Given the description of an element on the screen output the (x, y) to click on. 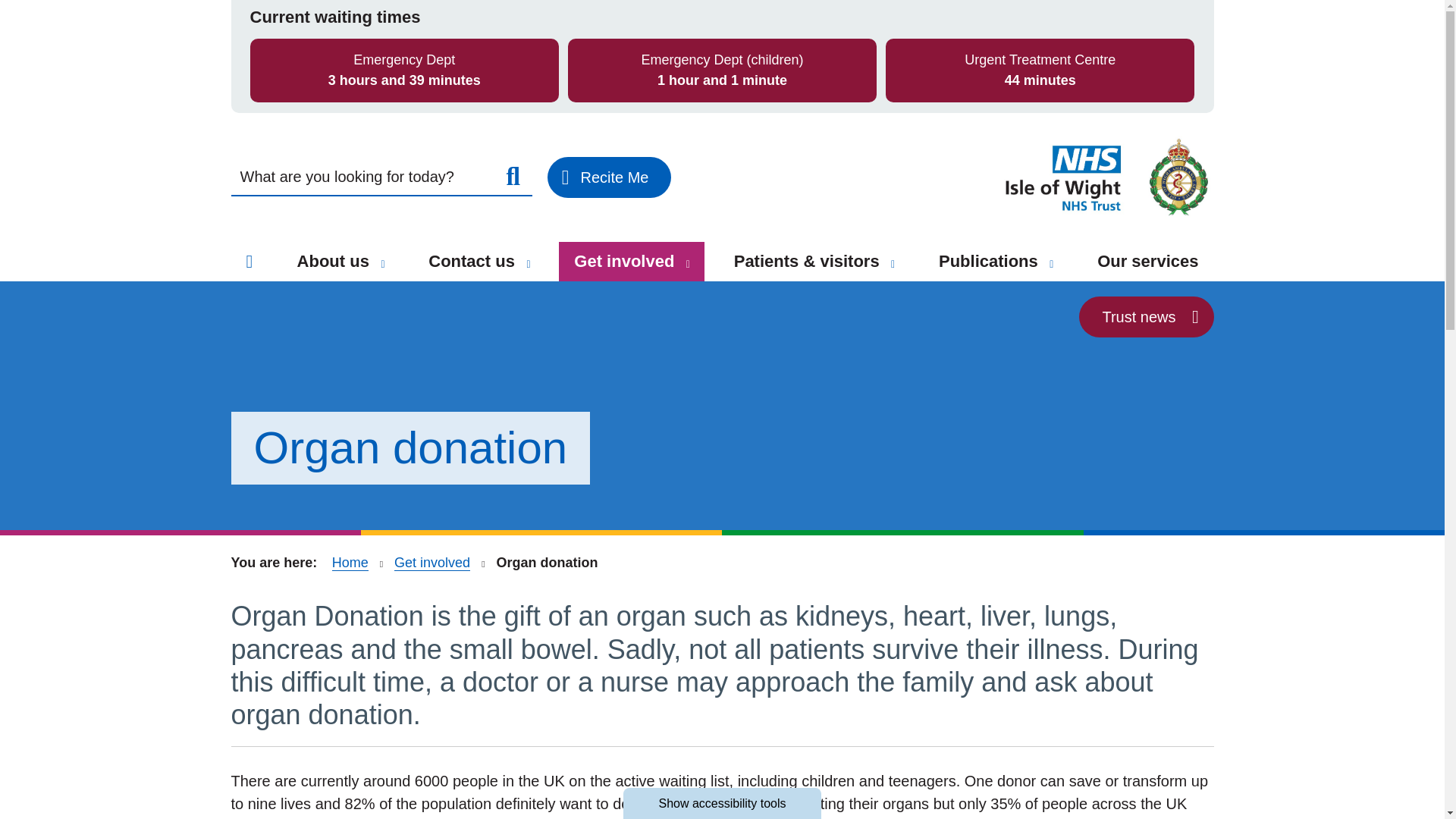
Search (513, 177)
Equality and diversity (331, 88)
Expenditure 2020 (570, 119)
Expenditure 2024 (570, 13)
Trust news (1145, 316)
Home (248, 261)
About us (382, 264)
Expenditure 2022 (570, 67)
Recite Me (609, 177)
Expenditure 2023 (570, 40)
Expenditure 2021 (570, 93)
Emergency planning (328, 54)
IOW NHS CARE Awards (350, 21)
Equality Monitoring Reports (358, 118)
About us (340, 261)
